Given the description of an element on the screen output the (x, y) to click on. 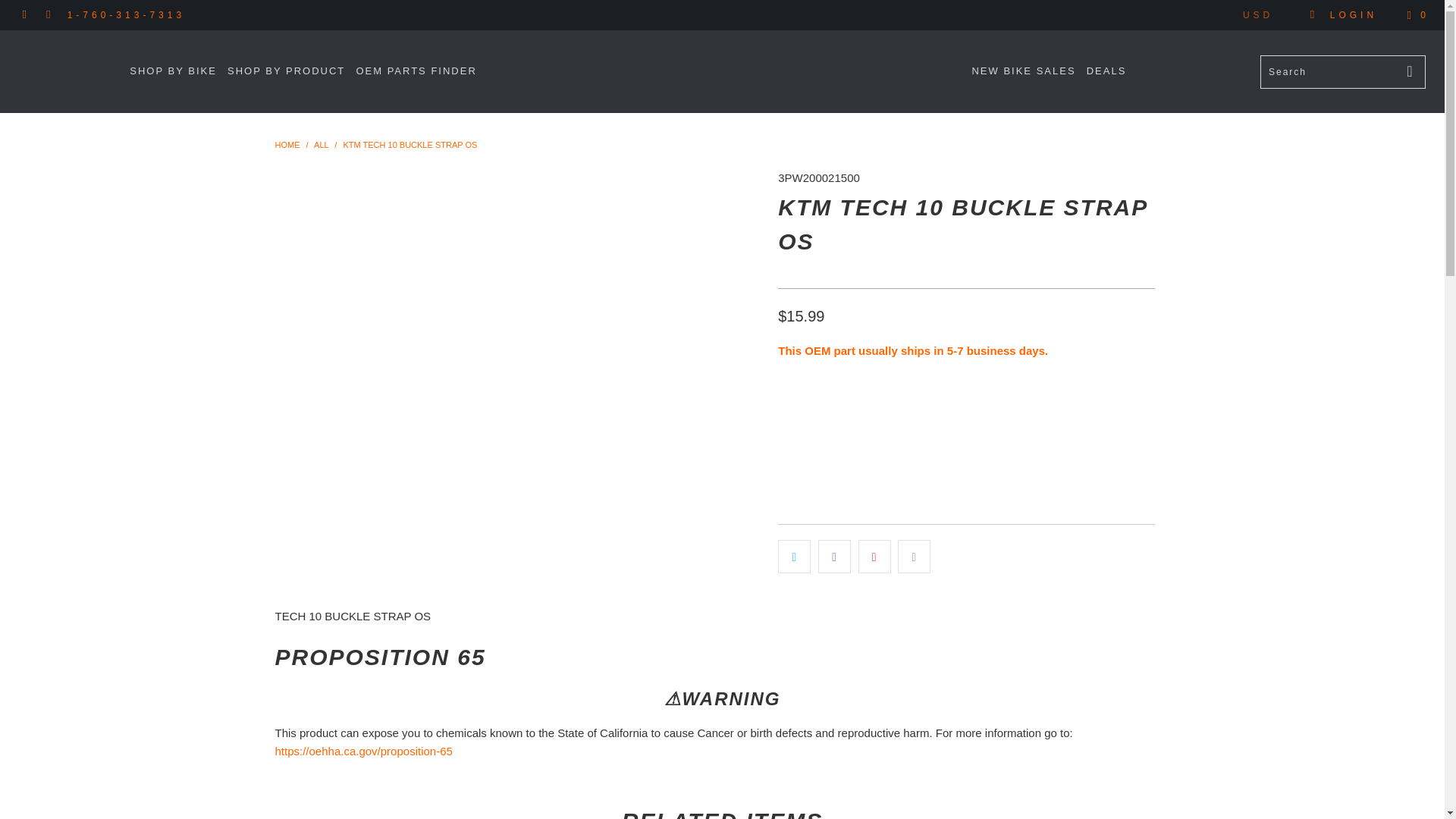
SHOP BY PRODUCT (286, 71)
LOGIN (1343, 15)
KTM Twins (729, 41)
My Account  (1343, 15)
KTM Twins on Instagram (48, 14)
DEALS (1106, 71)
KTM Twins on Facebook (25, 14)
Share this on Facebook (834, 556)
1-760-313-7313 (125, 15)
KTM Twins (287, 144)
